Given the description of an element on the screen output the (x, y) to click on. 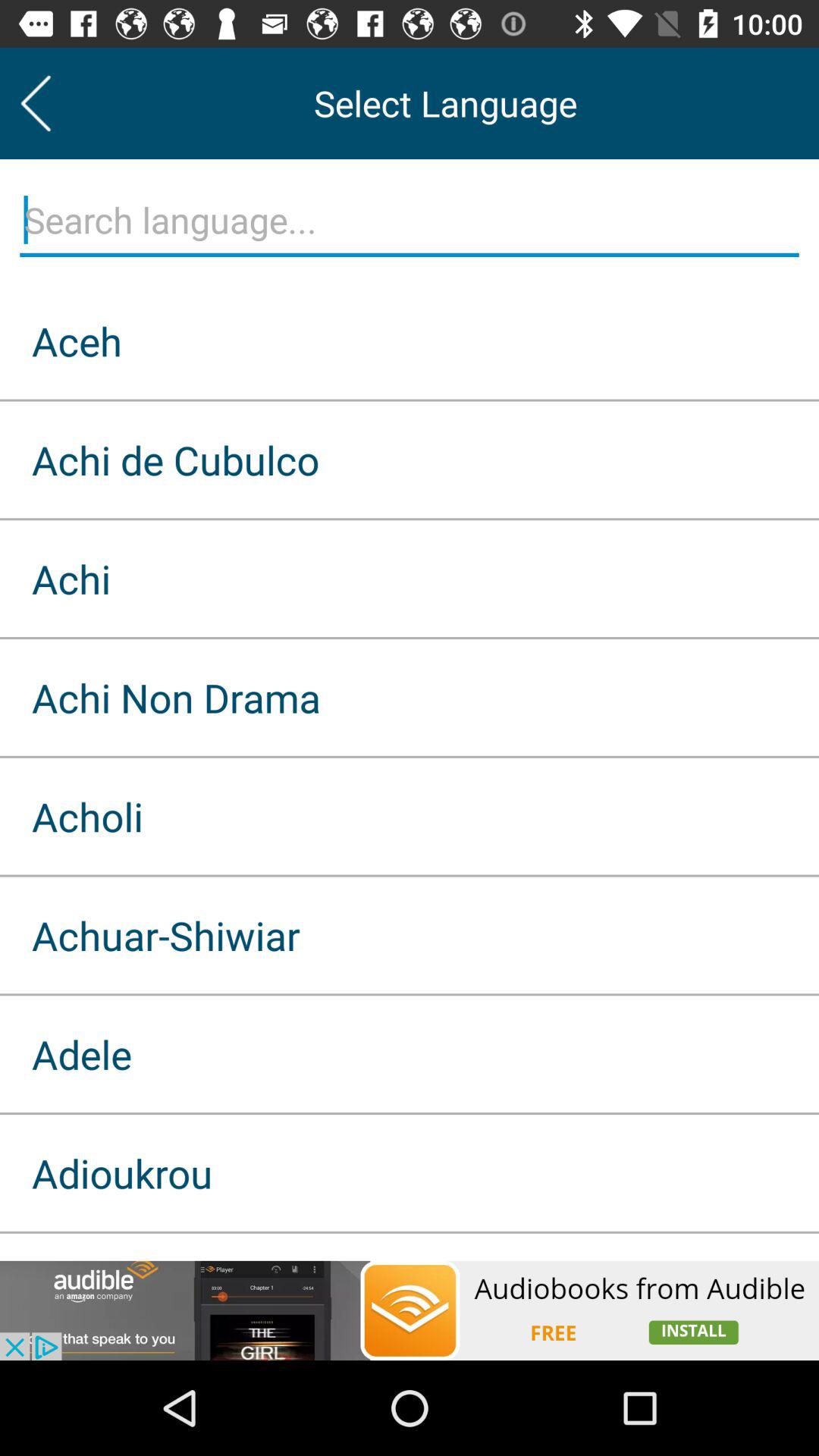
audible (409, 1310)
